Given the description of an element on the screen output the (x, y) to click on. 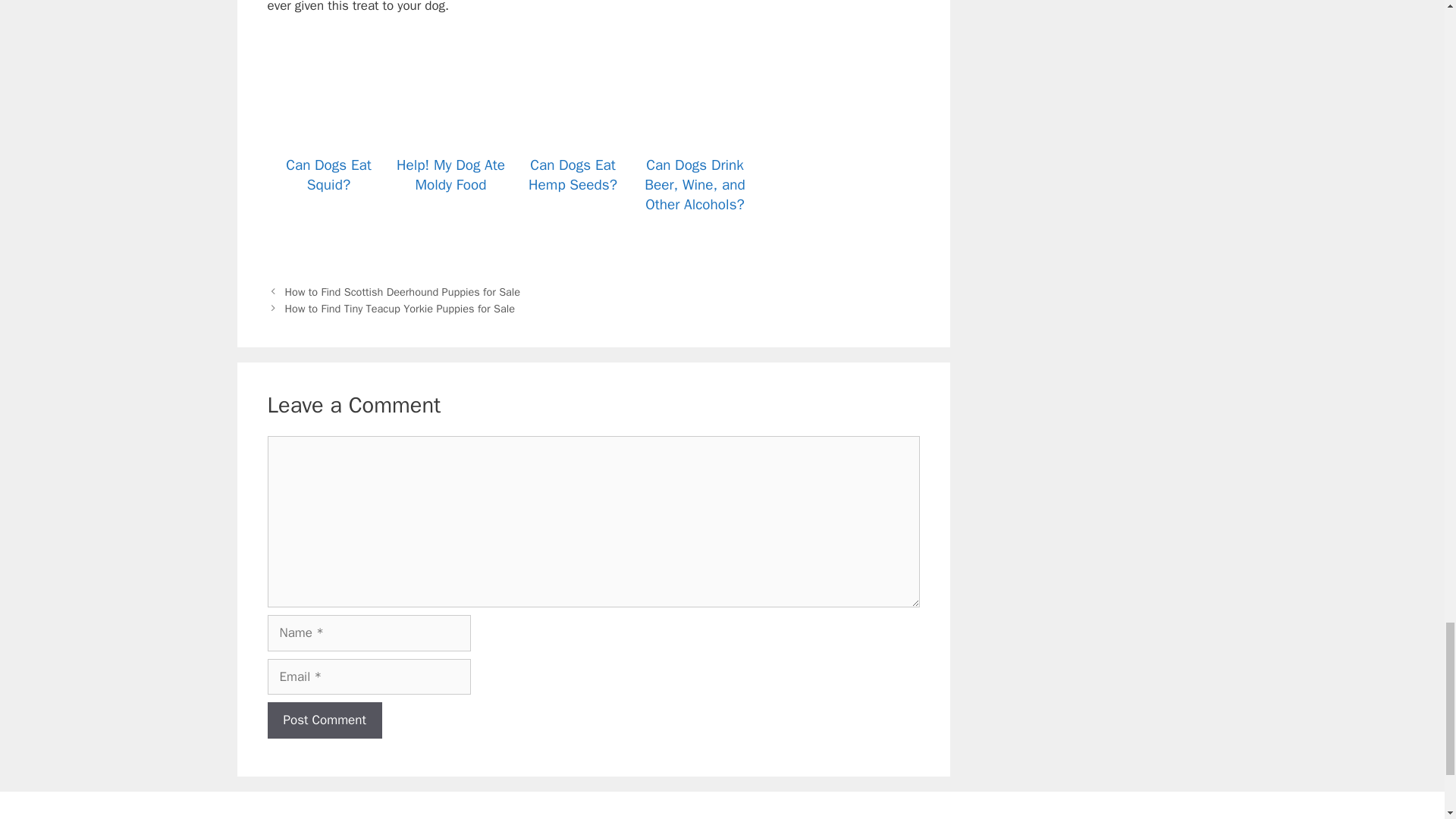
Post Comment (323, 719)
How to Find Scottish Deerhound Puppies for Sale (403, 291)
How to Find Tiny Teacup Yorkie Puppies for Sale (400, 308)
Post Comment (323, 719)
